Given the description of an element on the screen output the (x, y) to click on. 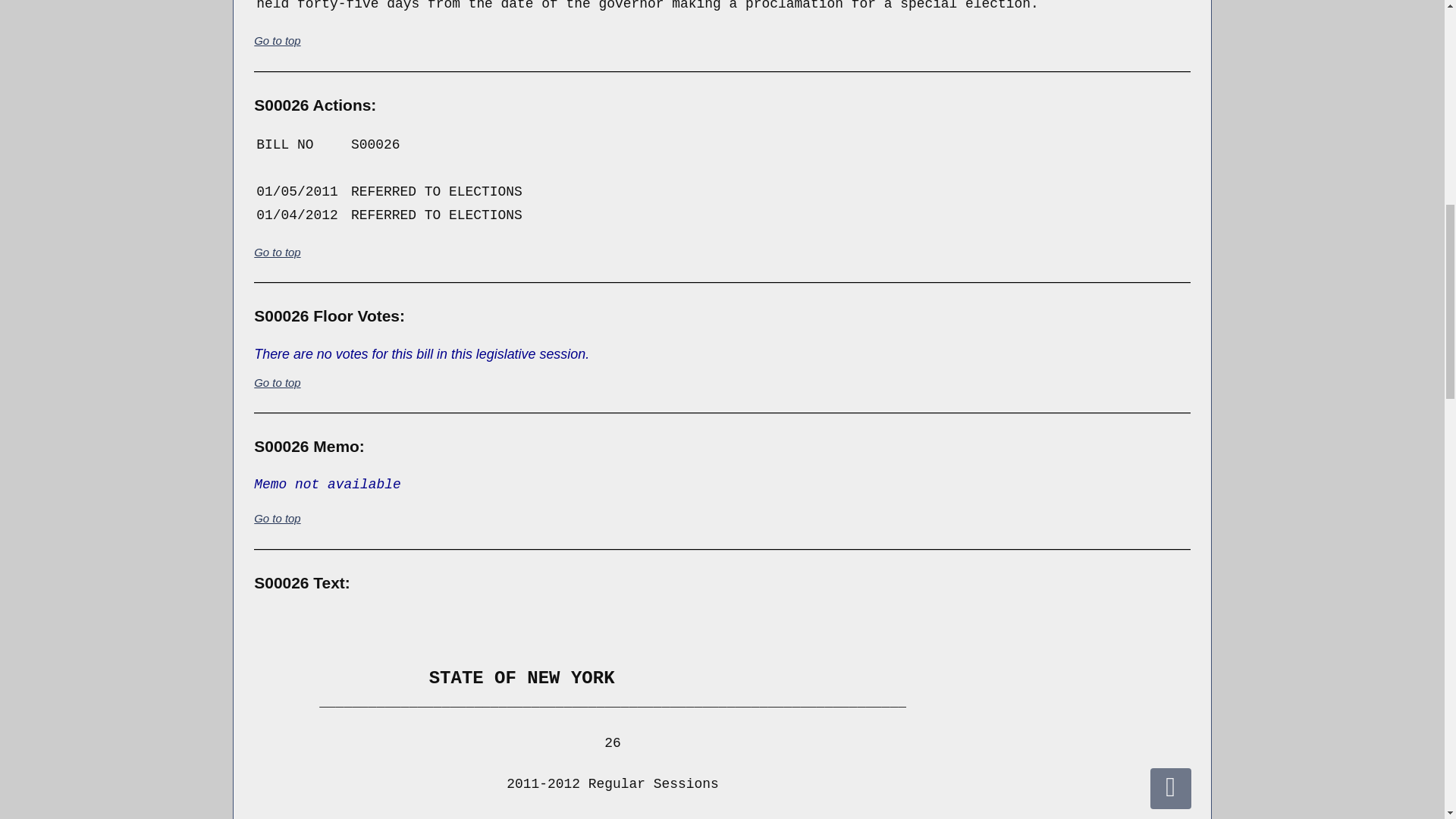
Go to top (276, 40)
Go to top (276, 517)
Go to top (276, 382)
Go to top (276, 251)
